Given the description of an element on the screen output the (x, y) to click on. 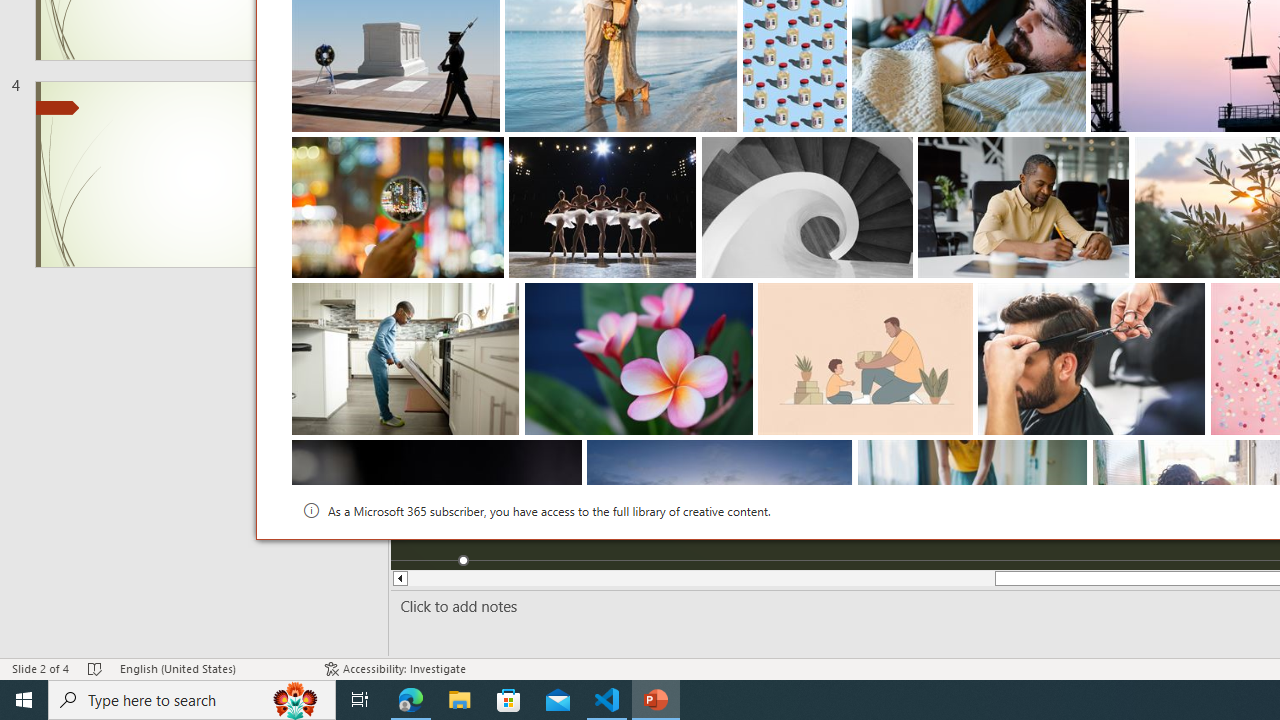
Microsoft Edge - 1 running window (411, 699)
Thumbnail (1073, 454)
PowerPoint - 1 running window (656, 699)
File Explorer (460, 699)
